Given the description of an element on the screen output the (x, y) to click on. 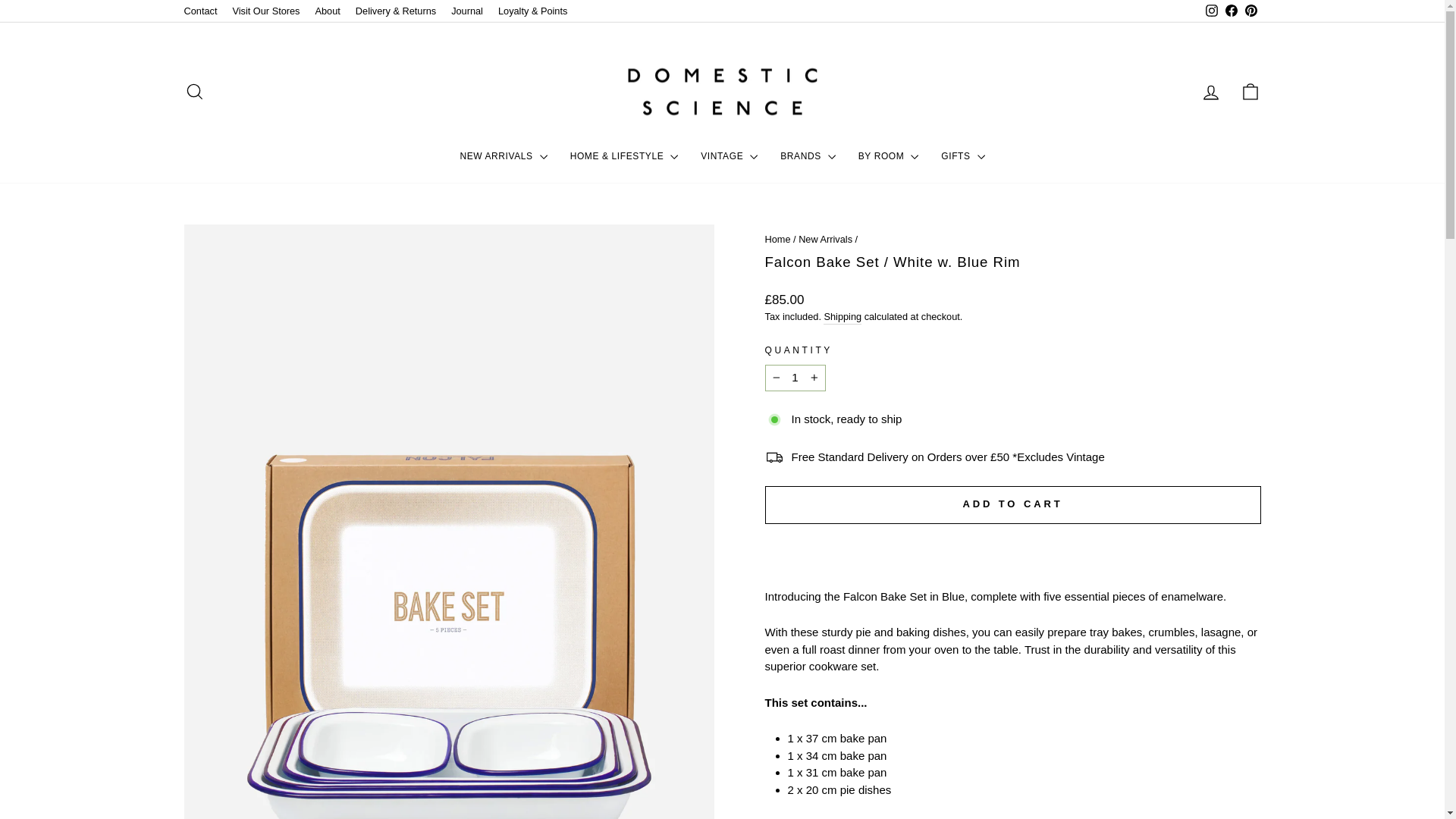
ACCOUNT (1210, 92)
Domestic Science Home on Facebook (1230, 11)
Domestic Science Home on Pinterest (1250, 11)
ICON-SEARCH (194, 91)
Domestic Science Home on Instagram (1211, 11)
Back to the frontpage (777, 238)
1 (794, 377)
ICON-BAG-MINIMAL (1249, 91)
instagram (1211, 10)
